Given the description of an element on the screen output the (x, y) to click on. 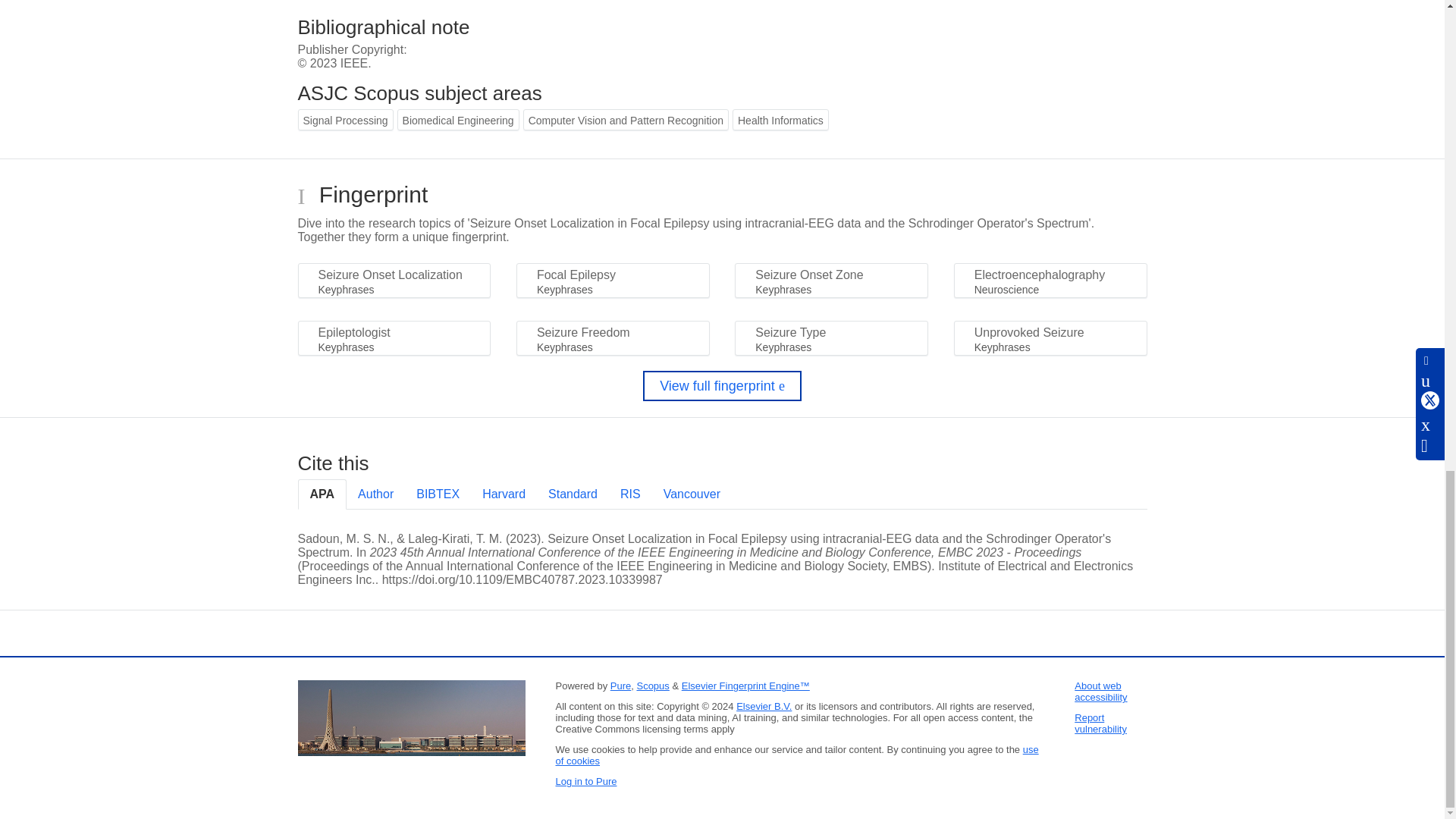
Scopus (652, 685)
Pure (620, 685)
View full fingerprint (722, 386)
